Given the description of an element on the screen output the (x, y) to click on. 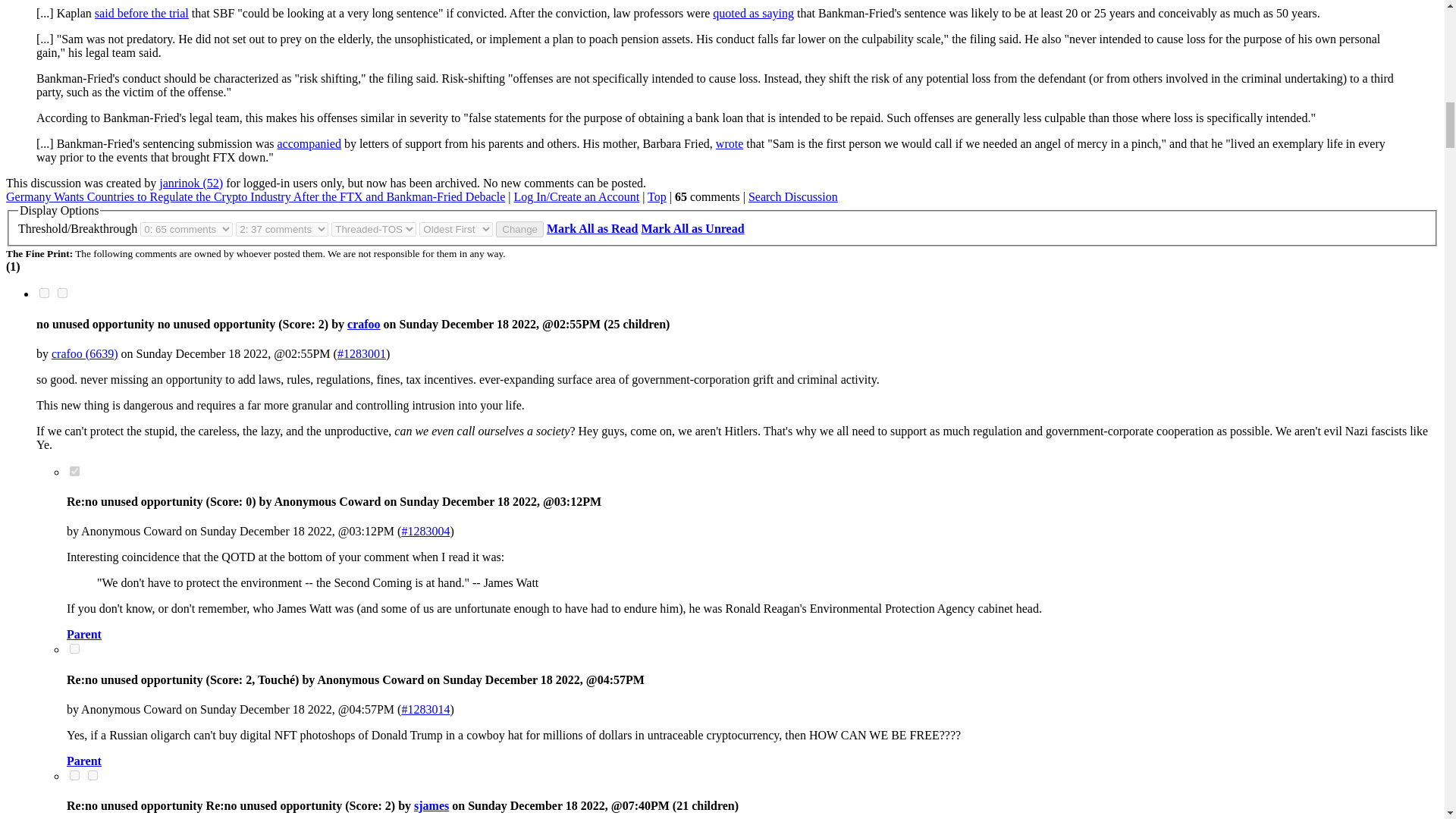
on (74, 648)
on (74, 775)
on (74, 470)
on (92, 775)
on (62, 293)
Change (519, 229)
on (44, 293)
